Given the description of an element on the screen output the (x, y) to click on. 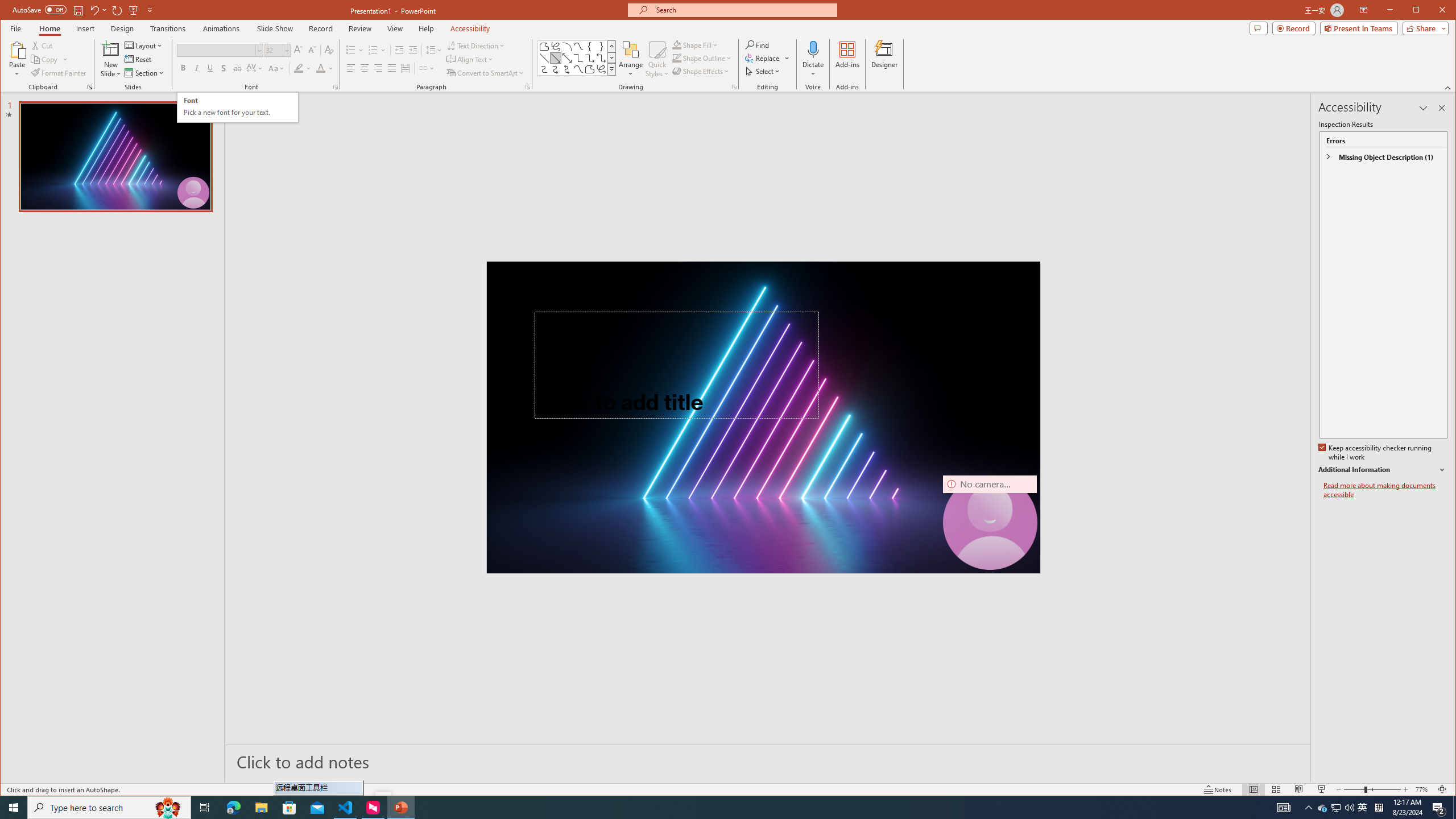
Zoom 77% (1422, 789)
Line Arrow: Double (1322, 807)
